Given the description of an element on the screen output the (x, y) to click on. 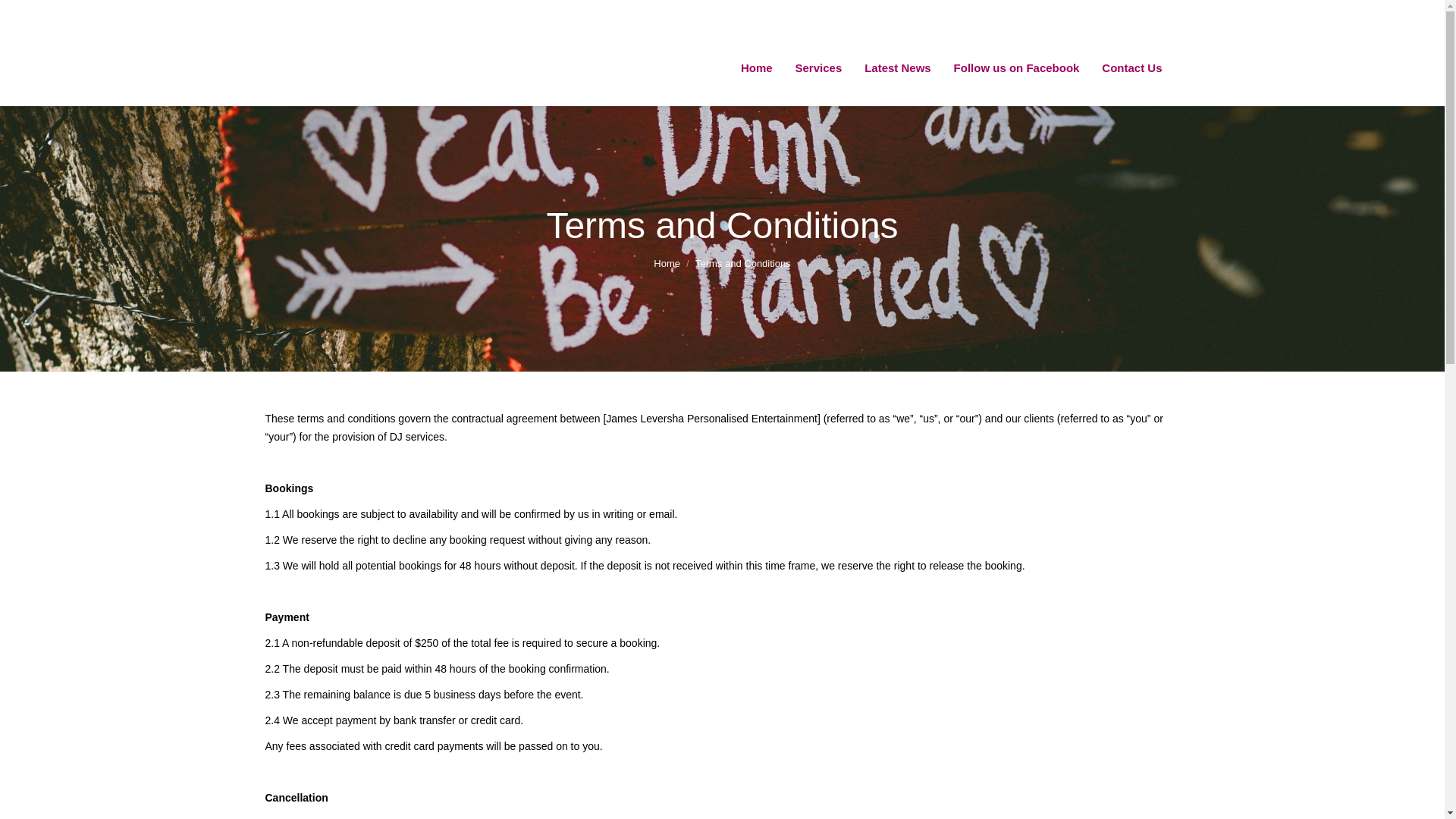
Home (756, 68)
Services (818, 68)
Latest News (897, 68)
